Given the description of an element on the screen output the (x, y) to click on. 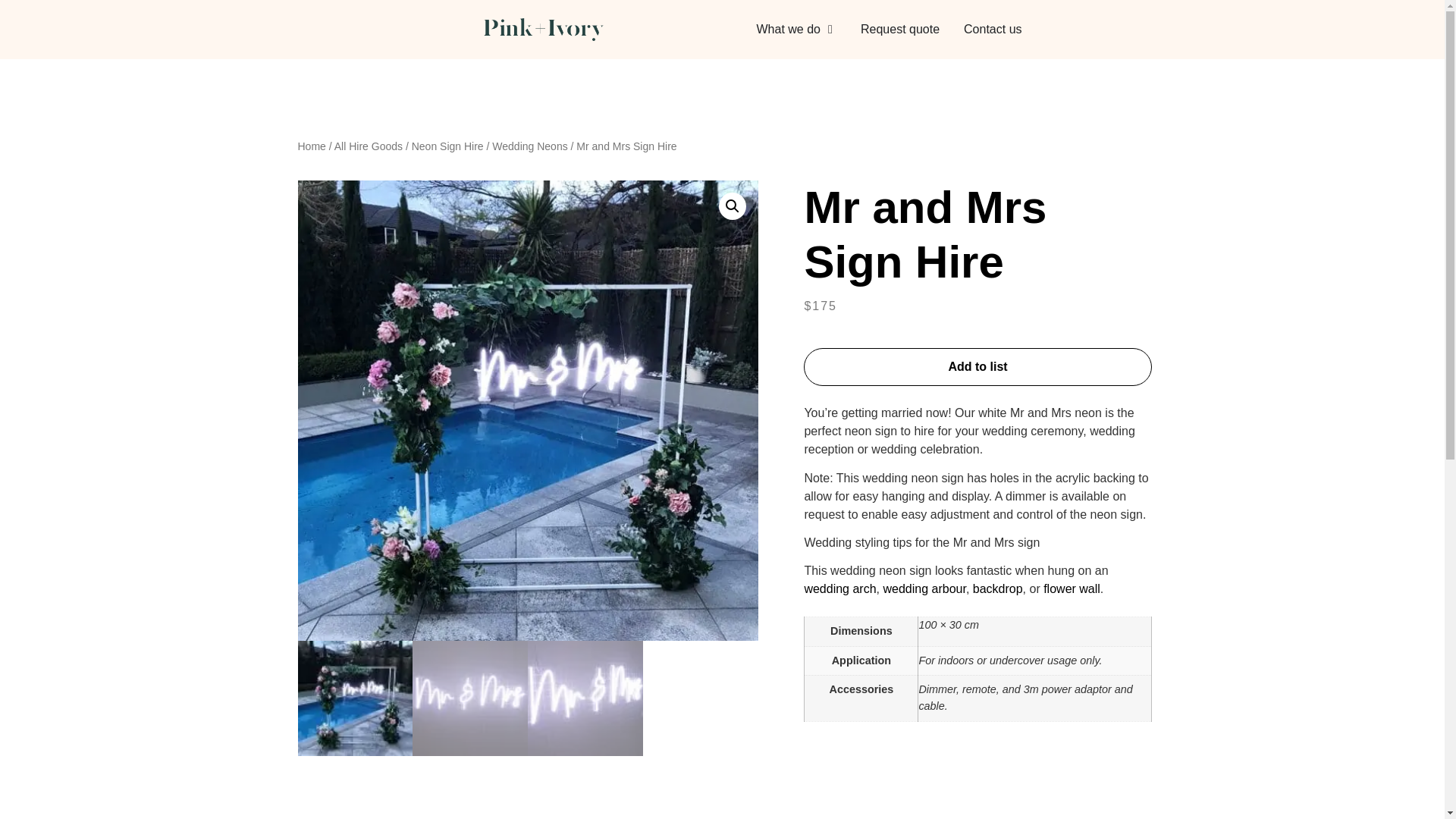
Add to list (977, 366)
Home (310, 146)
backdrop (997, 588)
Neon Sign Hire (447, 146)
flower wall (1071, 588)
wedding arbour (923, 588)
What we do (789, 29)
Contact us (992, 29)
Request quote (899, 29)
All Hire Goods (368, 146)
wedding arch (839, 588)
Wedding Neons (529, 146)
